Given the description of an element on the screen output the (x, y) to click on. 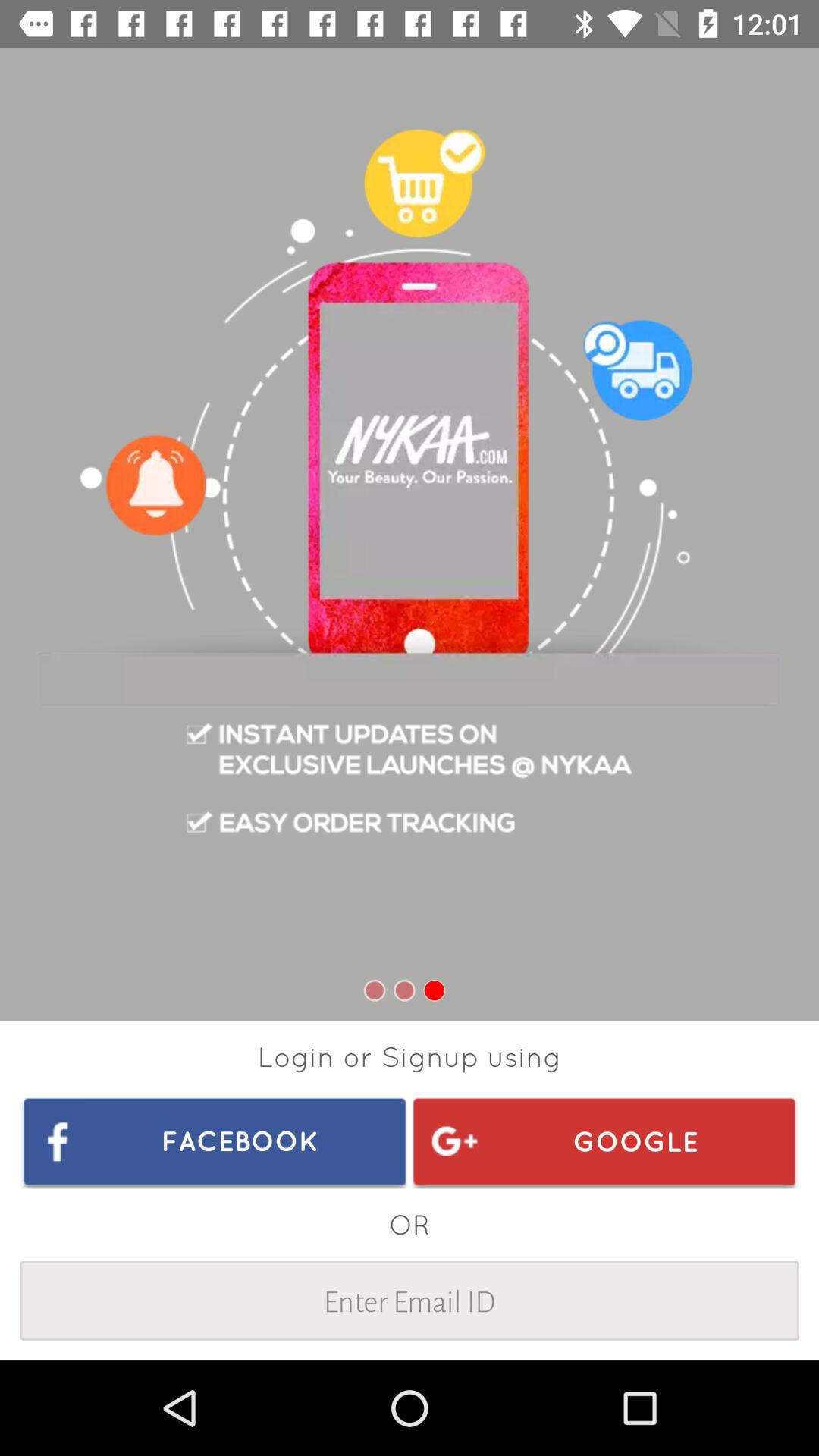
select item next to the google icon (214, 1140)
